Given the description of an element on the screen output the (x, y) to click on. 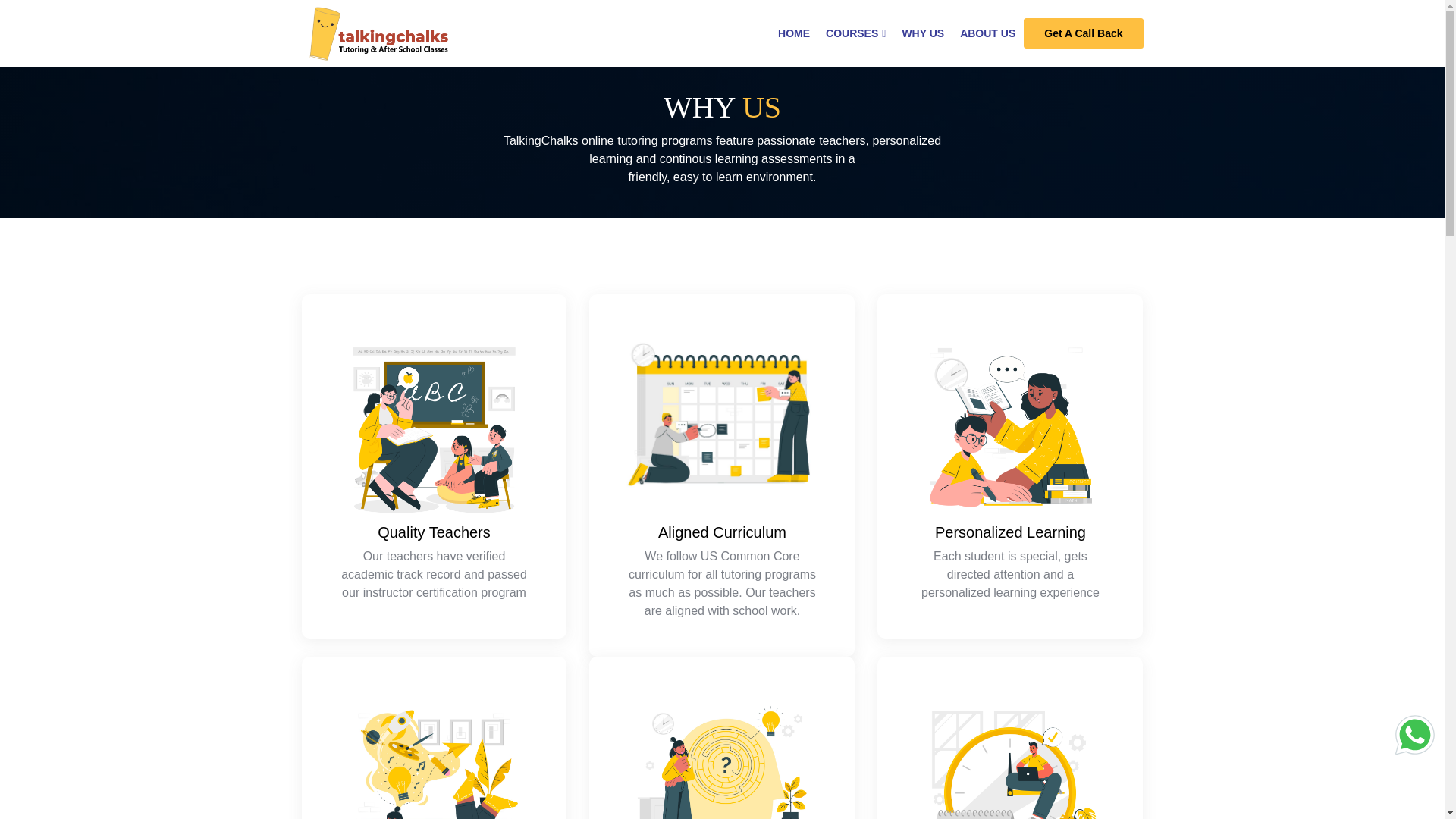
COURSES (855, 32)
